Given the description of an element on the screen output the (x, y) to click on. 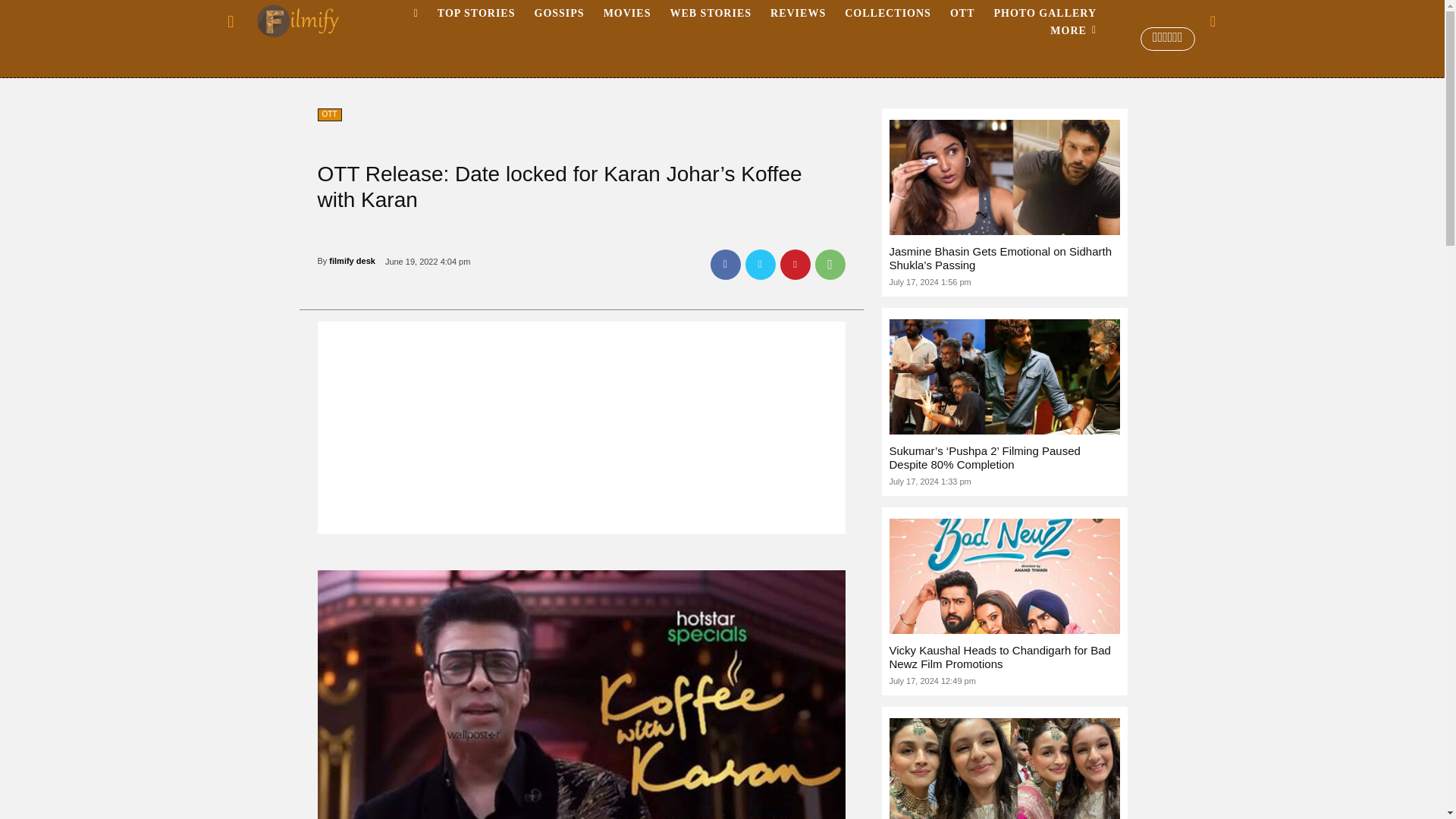
COLLECTIONS (888, 13)
WhatsApp (828, 264)
Pinterest (793, 264)
Facebook (724, 264)
Twitter (759, 264)
MOVIES (627, 13)
REVIEWS (797, 13)
GOSSIPS (558, 13)
View all posts in OTT (359, 64)
TOP STORIES (475, 13)
WEB STORIES (710, 13)
